Given the description of an element on the screen output the (x, y) to click on. 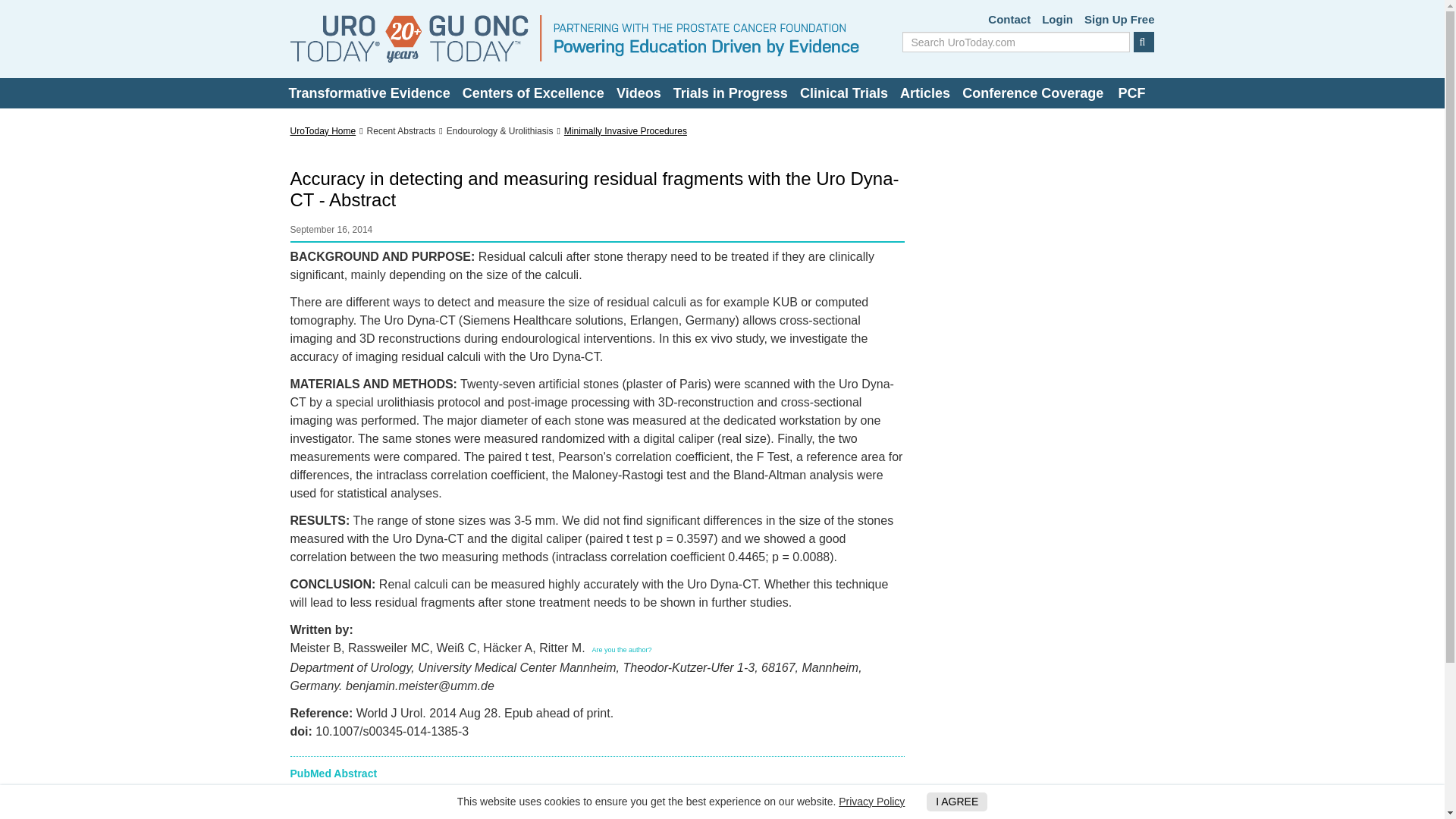
Login (1057, 19)
UroToday (574, 39)
Privacy Policy (871, 801)
Sign Up Free (1119, 19)
I AGREE (956, 801)
Contact (1009, 19)
Centers of Excellence (533, 92)
